Given the description of an element on the screen output the (x, y) to click on. 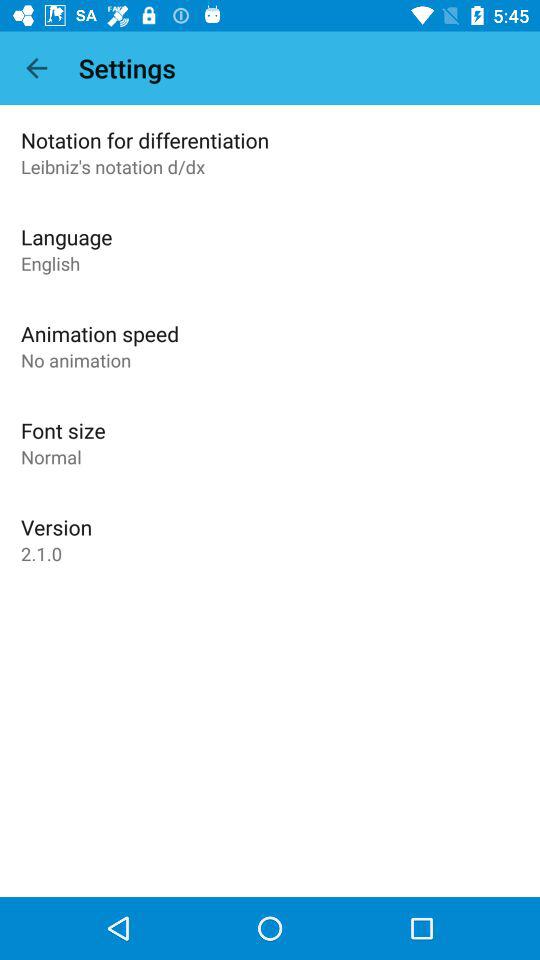
jump until the animation speed app (100, 333)
